Given the description of an element on the screen output the (x, y) to click on. 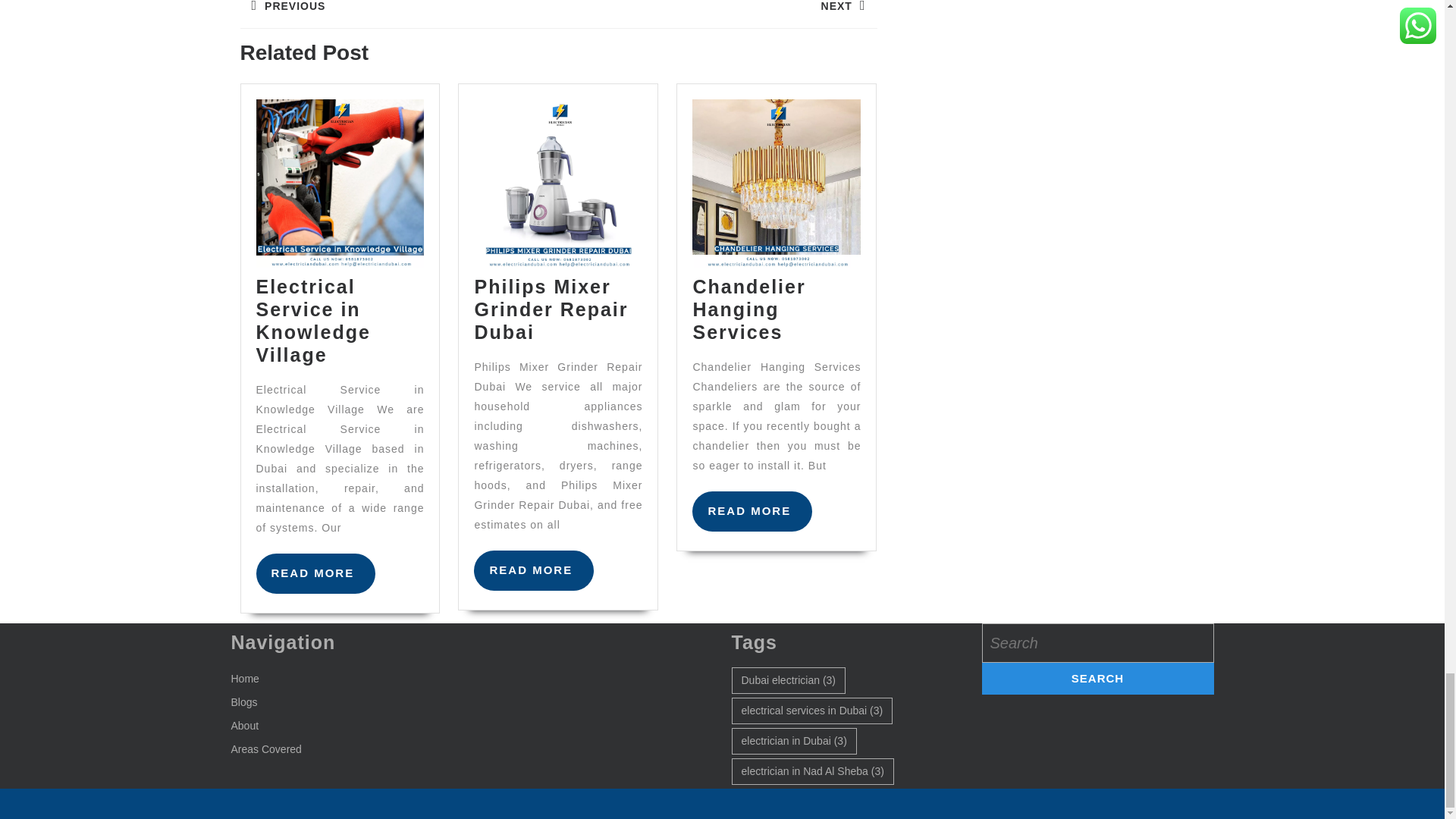
Search (1096, 678)
Search (1096, 678)
